Given the description of an element on the screen output the (x, y) to click on. 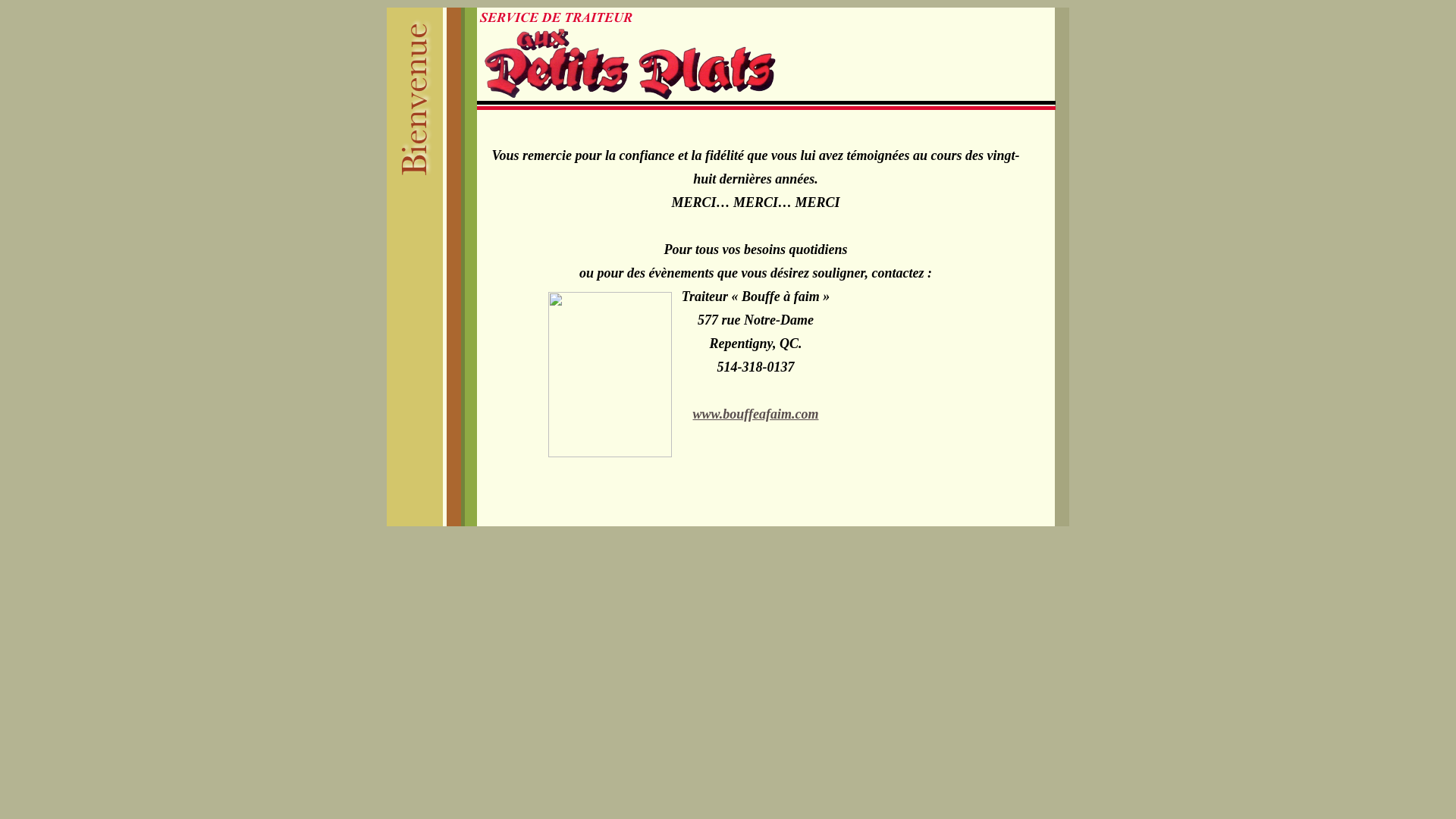
www.bouffeafaim.com Element type: text (756, 413)
